Given the description of an element on the screen output the (x, y) to click on. 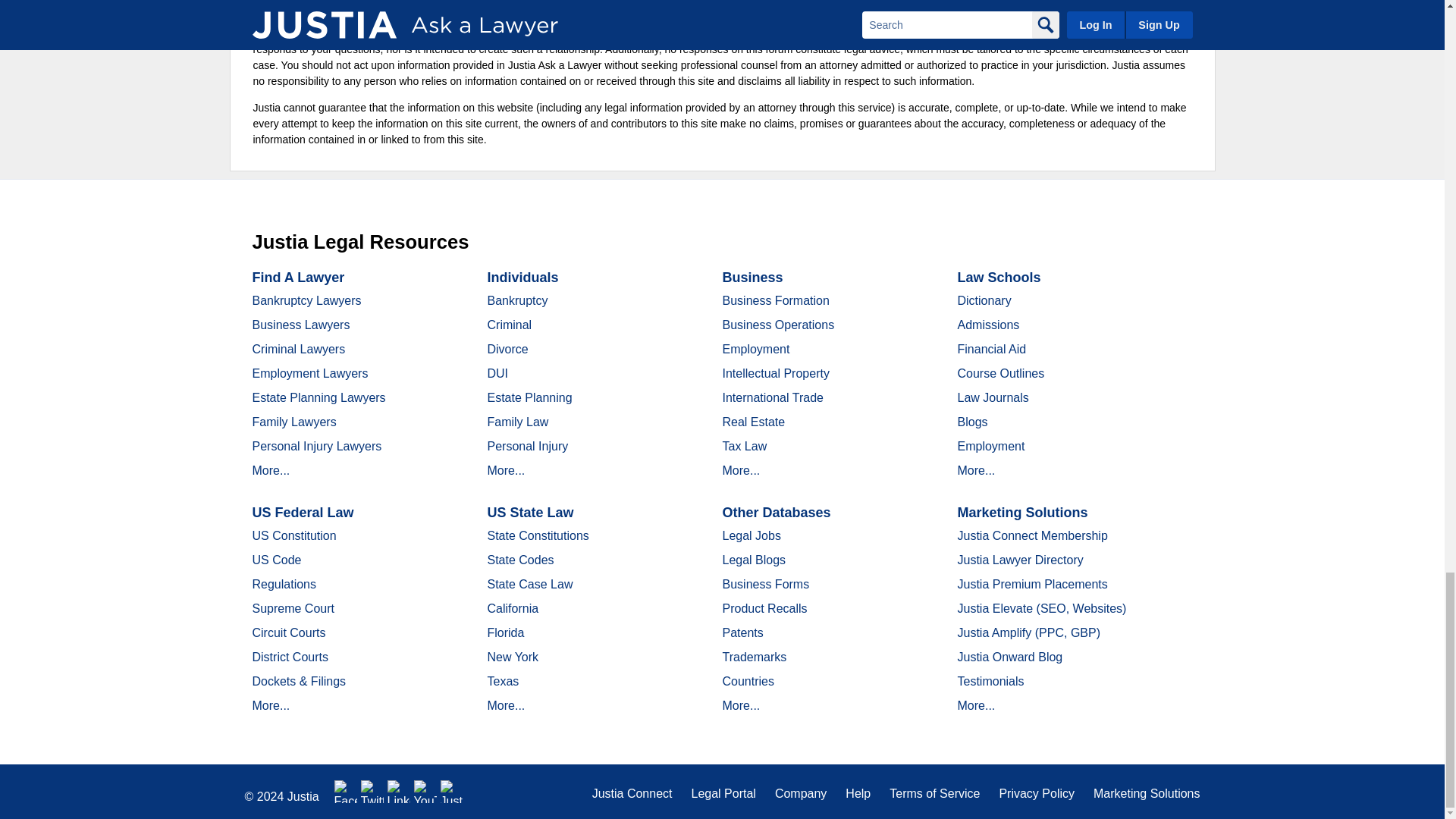
Twitter (372, 791)
Facebook (345, 791)
